Given the description of an element on the screen output the (x, y) to click on. 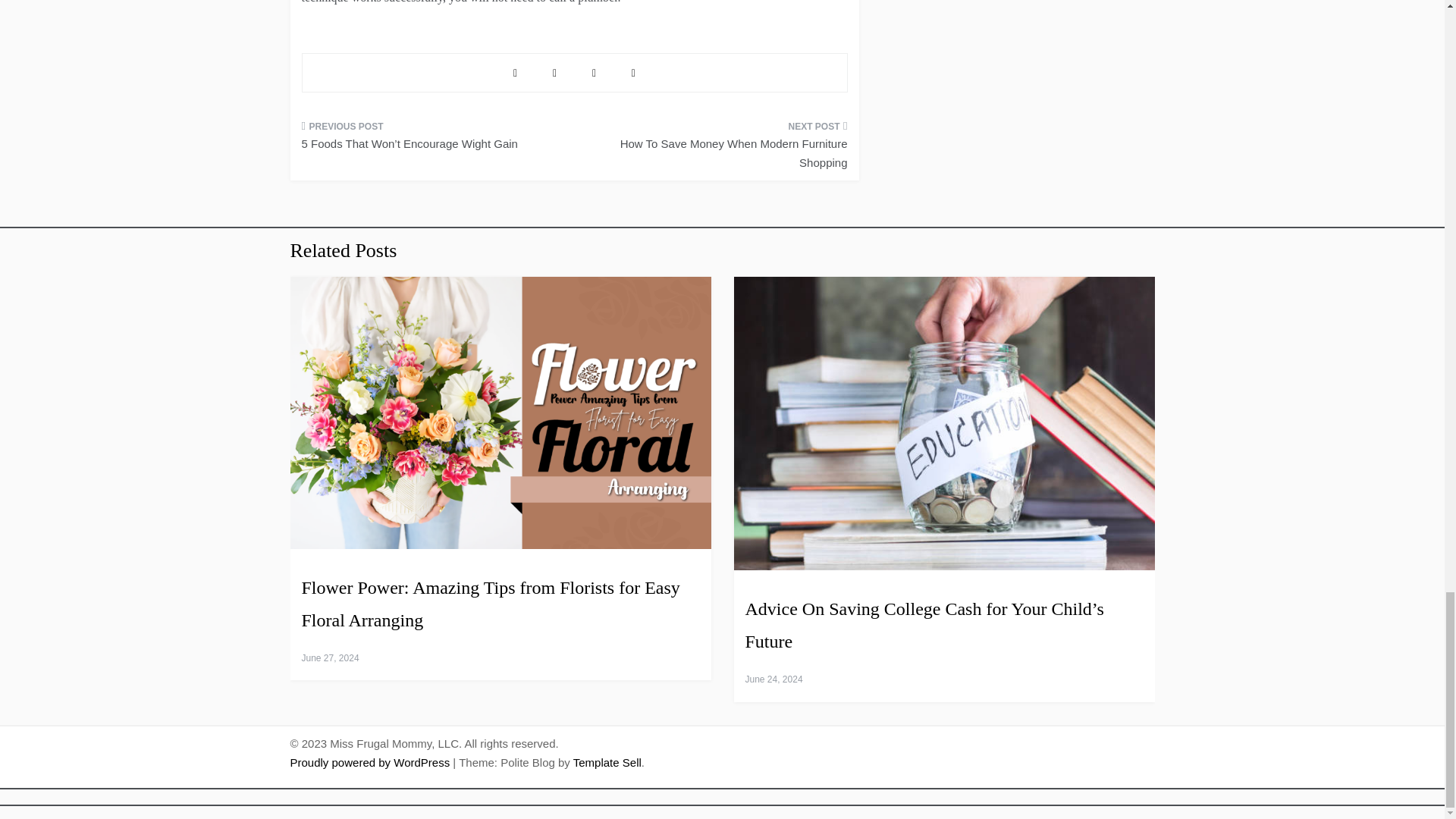
How To Save Money When Modern Furniture Shopping (716, 149)
